Given the description of an element on the screen output the (x, y) to click on. 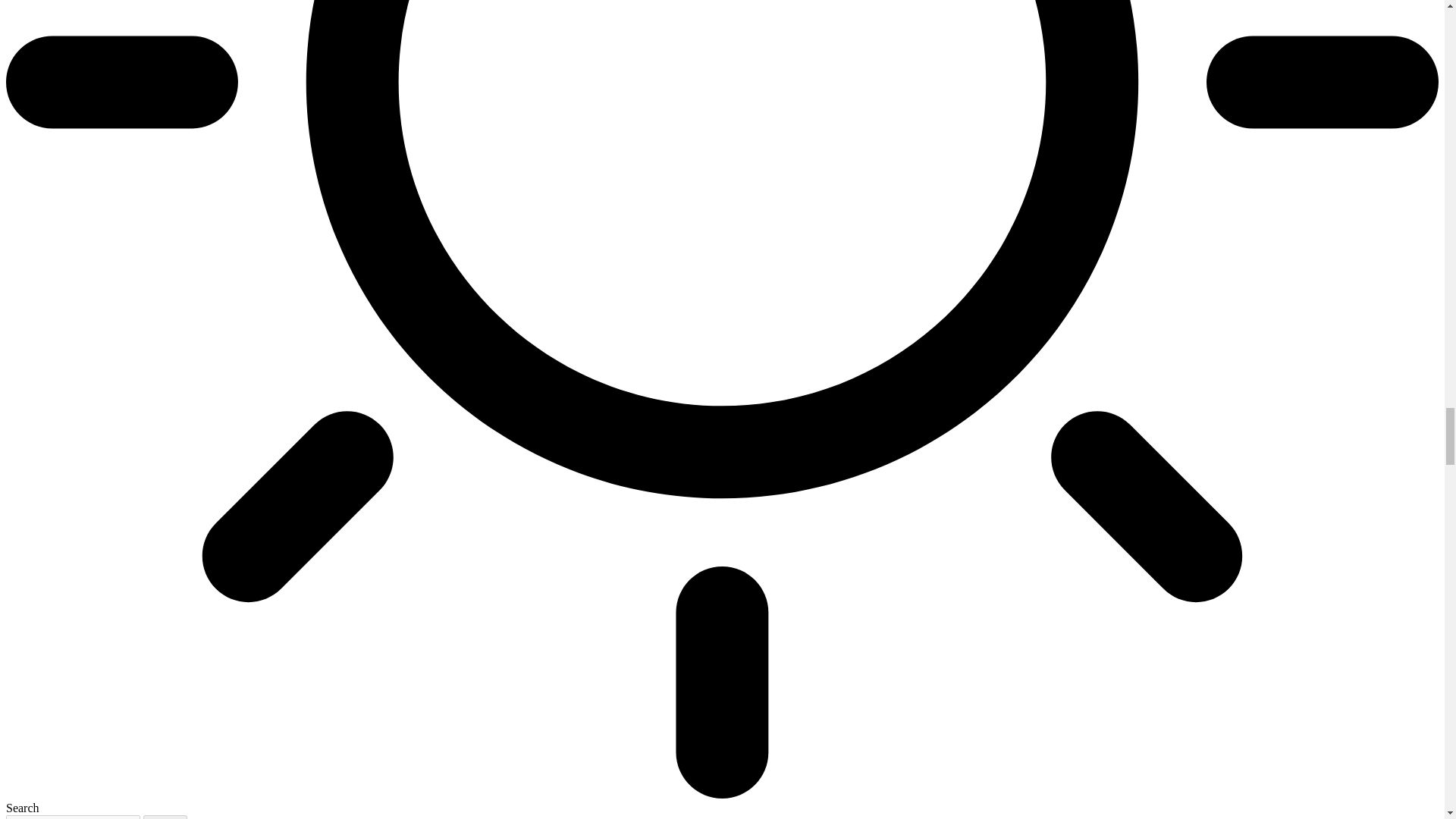
Search (164, 816)
Search (164, 816)
